Given the description of an element on the screen output the (x, y) to click on. 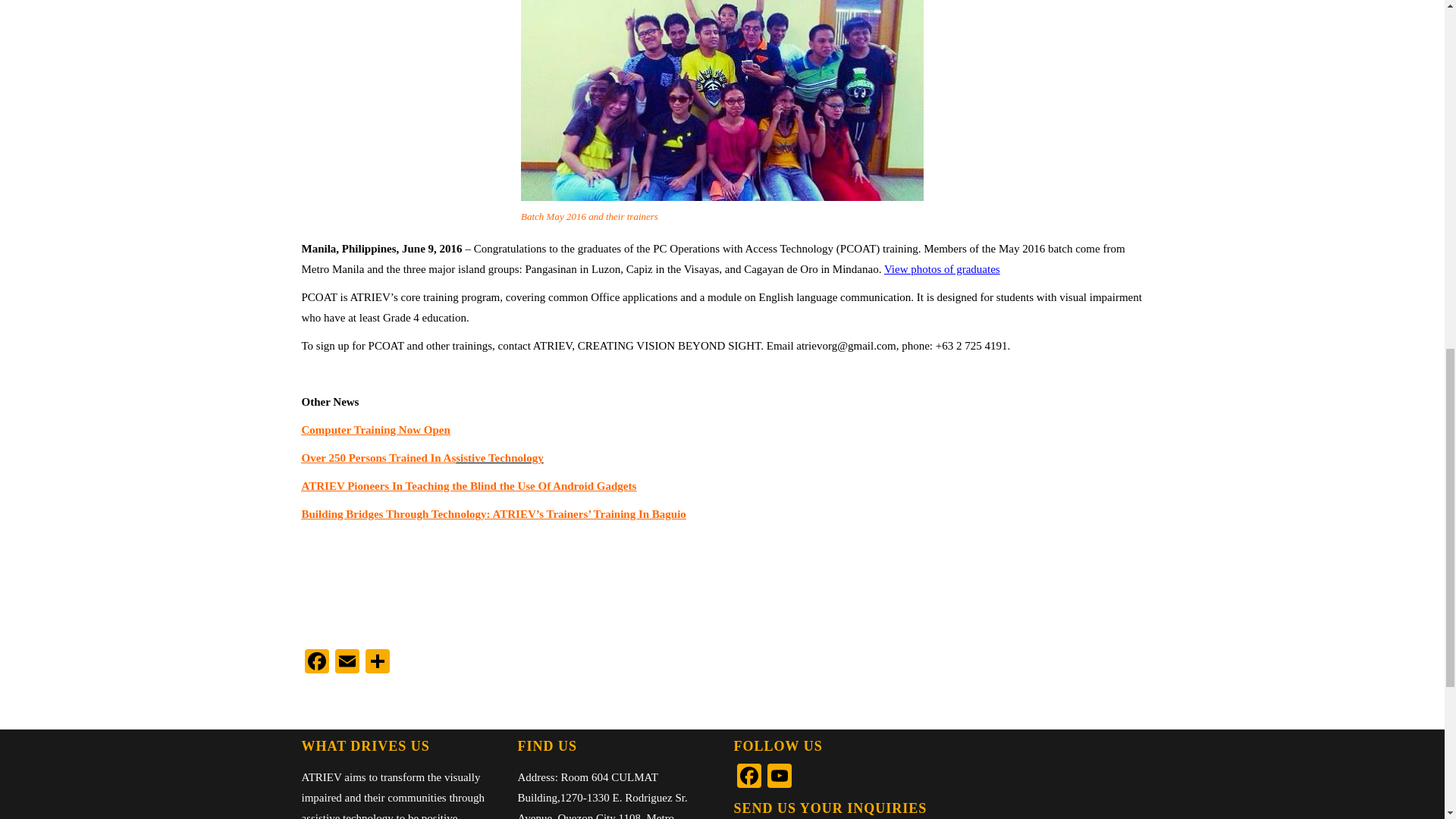
ATRIEV Pioneers In Teaching the Blind (398, 485)
Facebook (316, 663)
Computer Training Now Open (375, 429)
Facebook (748, 777)
Email (346, 663)
Over 250 Persons Trained In As (379, 458)
YouTube (779, 777)
Facebook (316, 663)
View photos of graduates (941, 268)
